Given the description of an element on the screen output the (x, y) to click on. 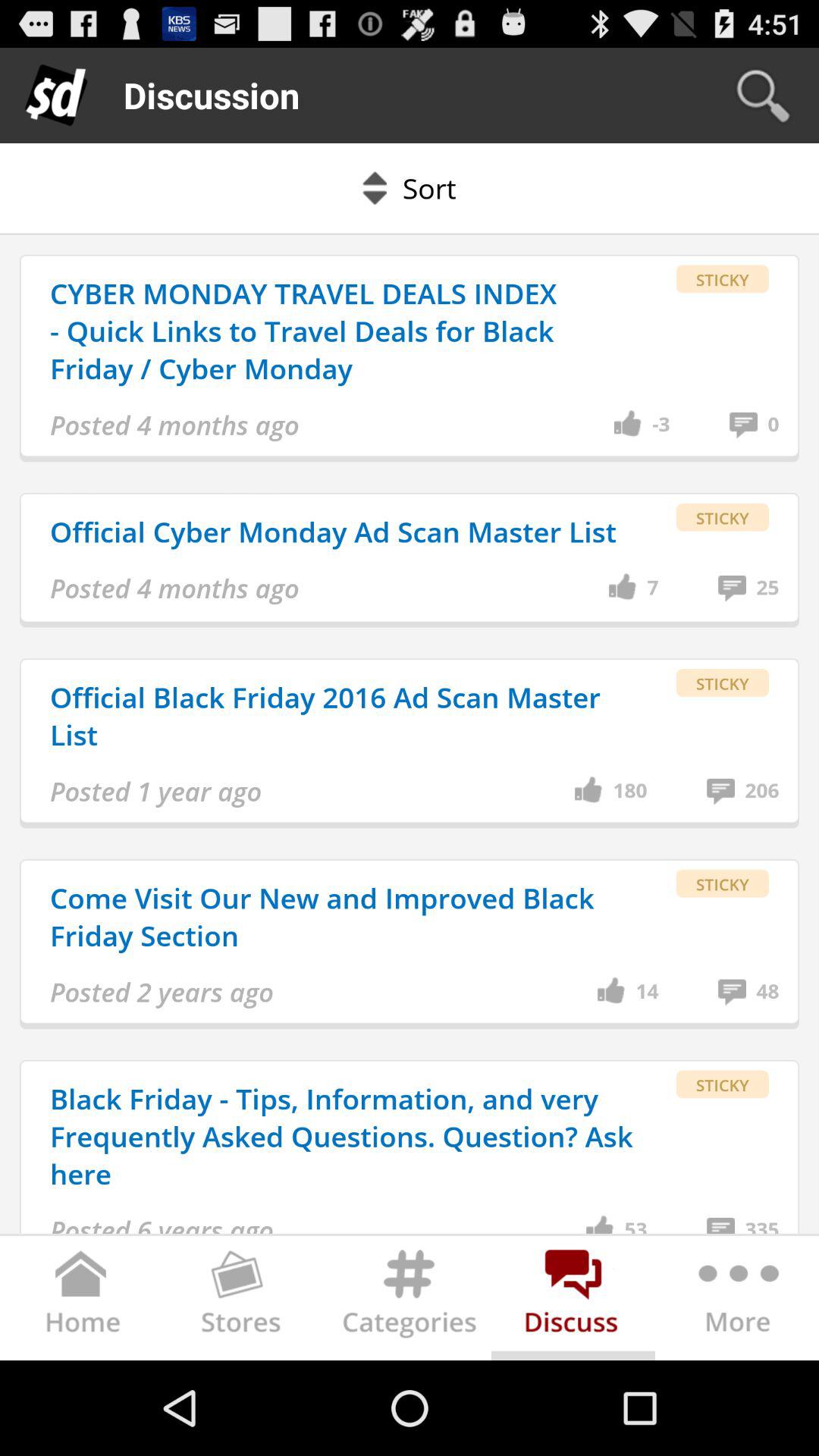
select the icon below sticky (762, 1224)
